Given the description of an element on the screen output the (x, y) to click on. 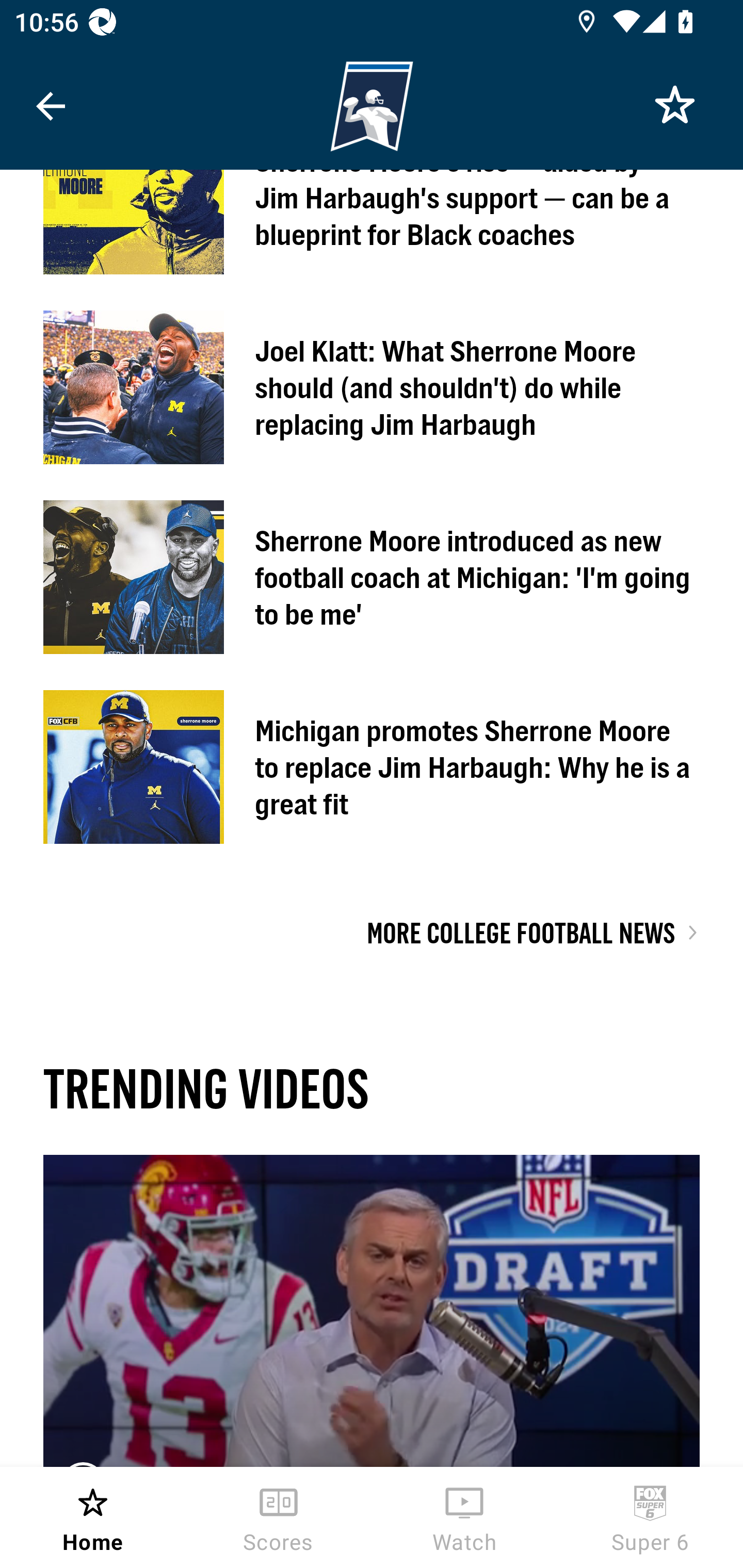
Navigate up (50, 106)
MORE COLLEGE FOOTBALL NEWS (520, 931)
Scores (278, 1517)
Watch (464, 1517)
Super 6 (650, 1517)
